Given the description of an element on the screen output the (x, y) to click on. 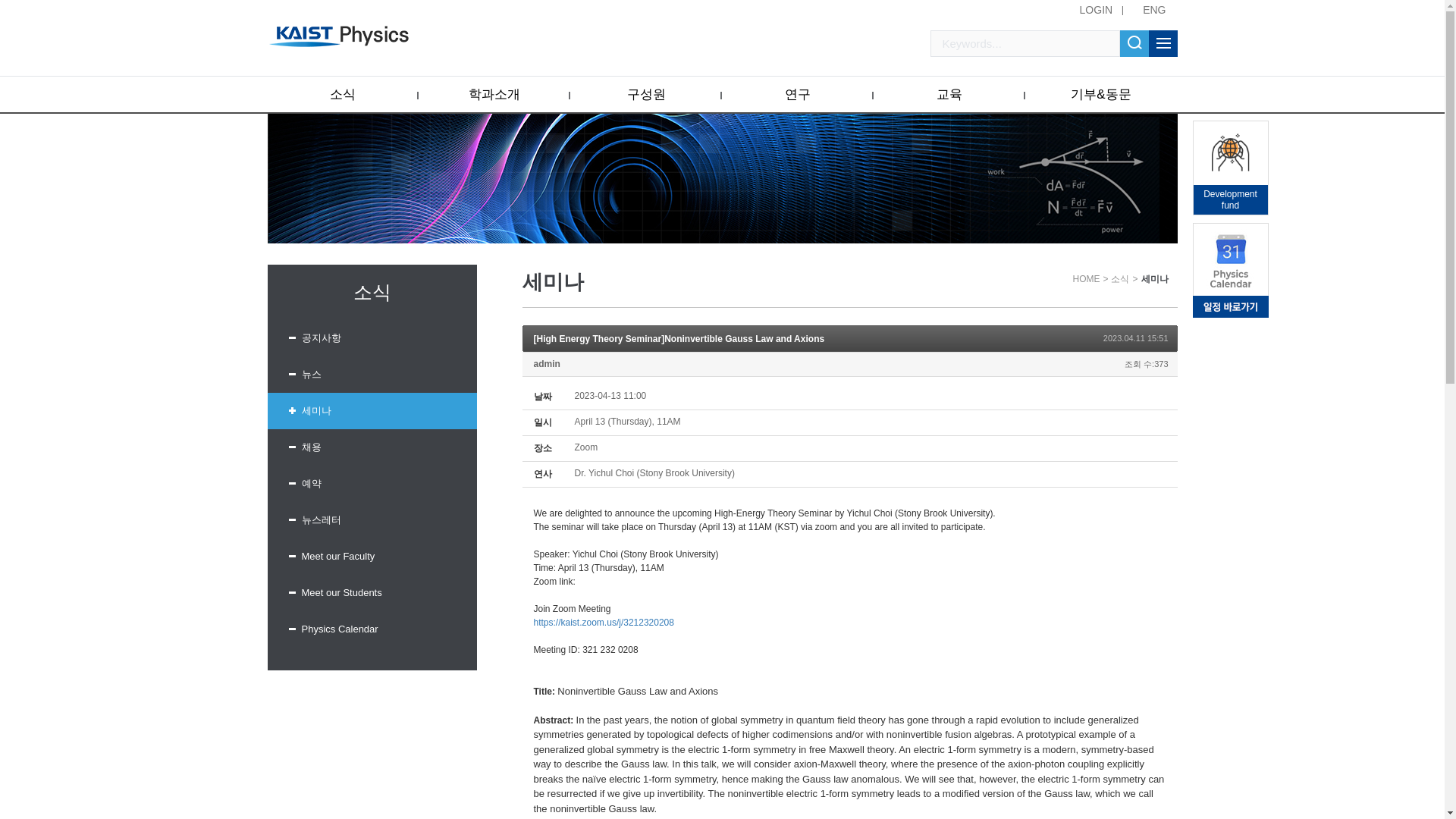
ENG (1153, 9)
LOGIN (1096, 9)
